Given the description of an element on the screen output the (x, y) to click on. 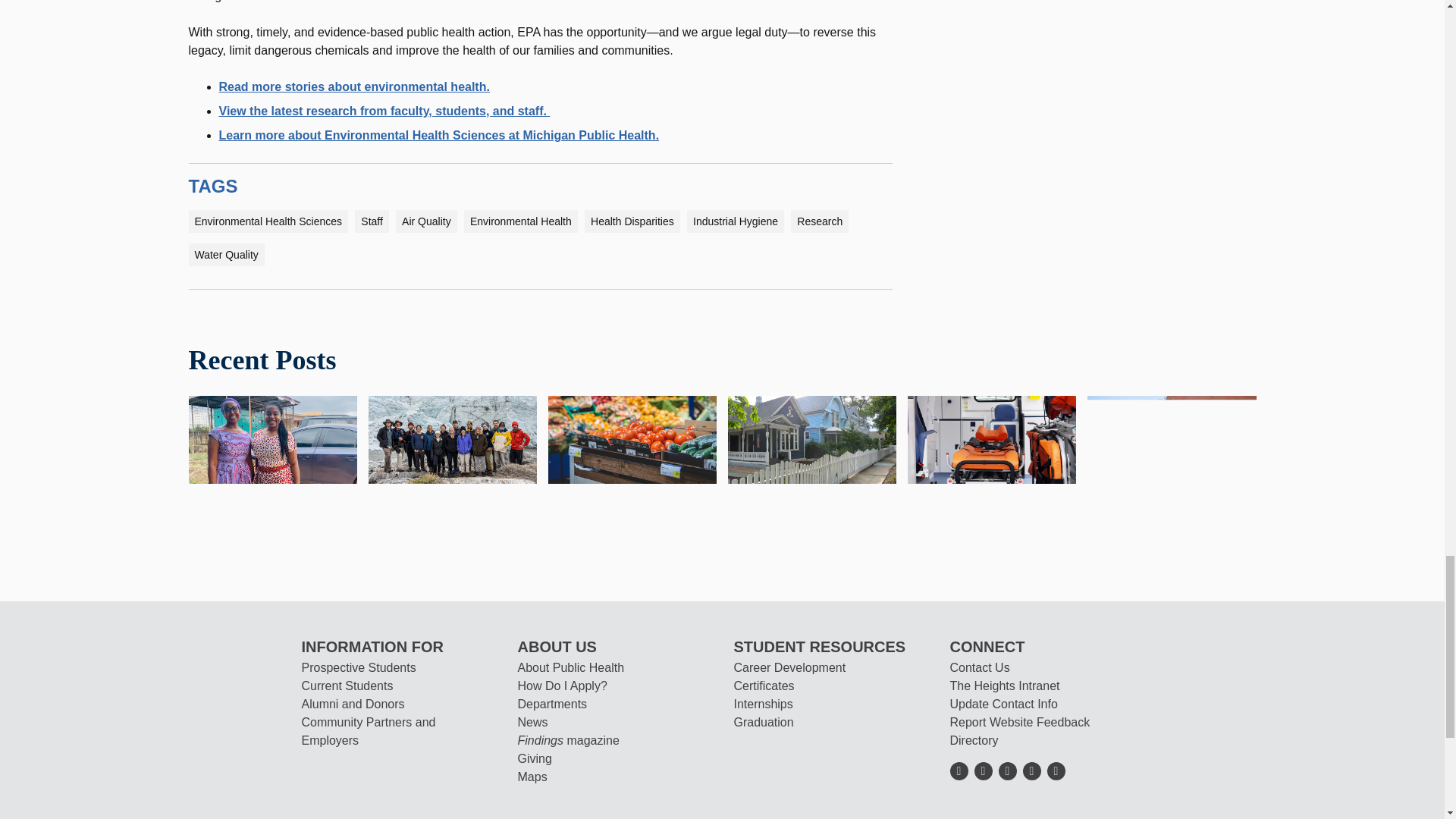
Naloxone: Wide Distribution Effective in Preventing Deaths (991, 438)
Making a Difference Around the World (452, 438)
